Given the description of an element on the screen output the (x, y) to click on. 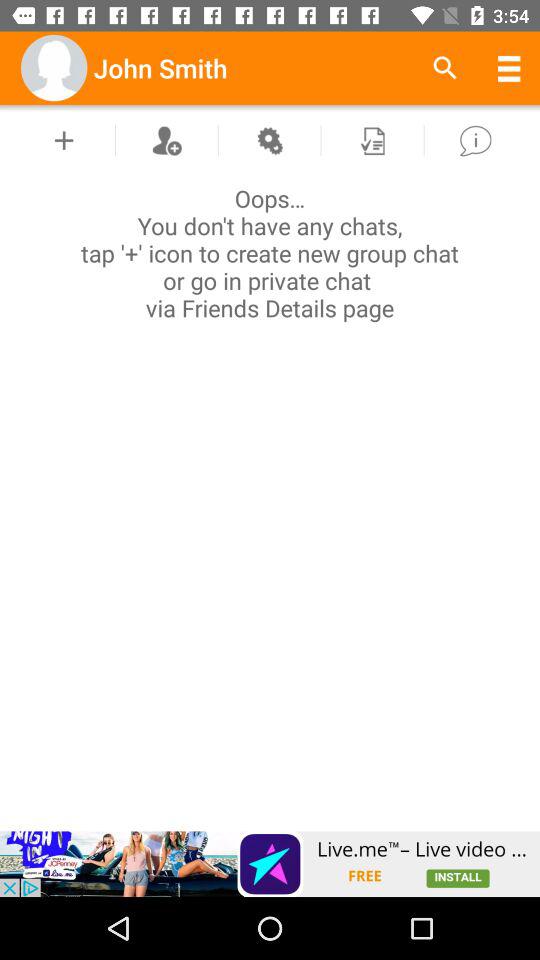
add chat (63, 140)
